Given the description of an element on the screen output the (x, y) to click on. 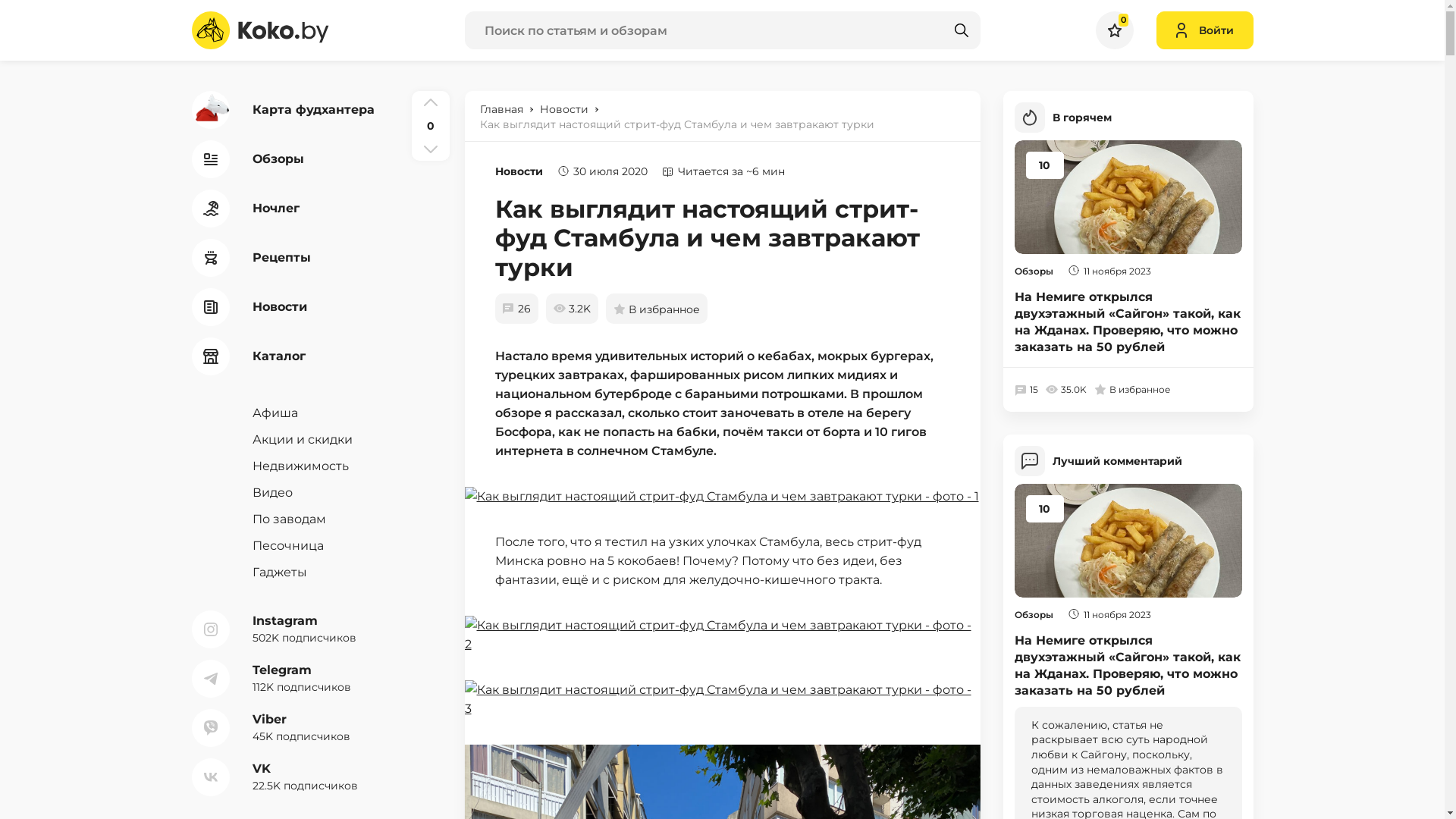
10 Element type: text (1128, 197)
15 Element type: text (1026, 389)
10 Element type: text (1128, 540)
26 Element type: text (515, 308)
0 Element type: text (1113, 30)
